Given the description of an element on the screen output the (x, y) to click on. 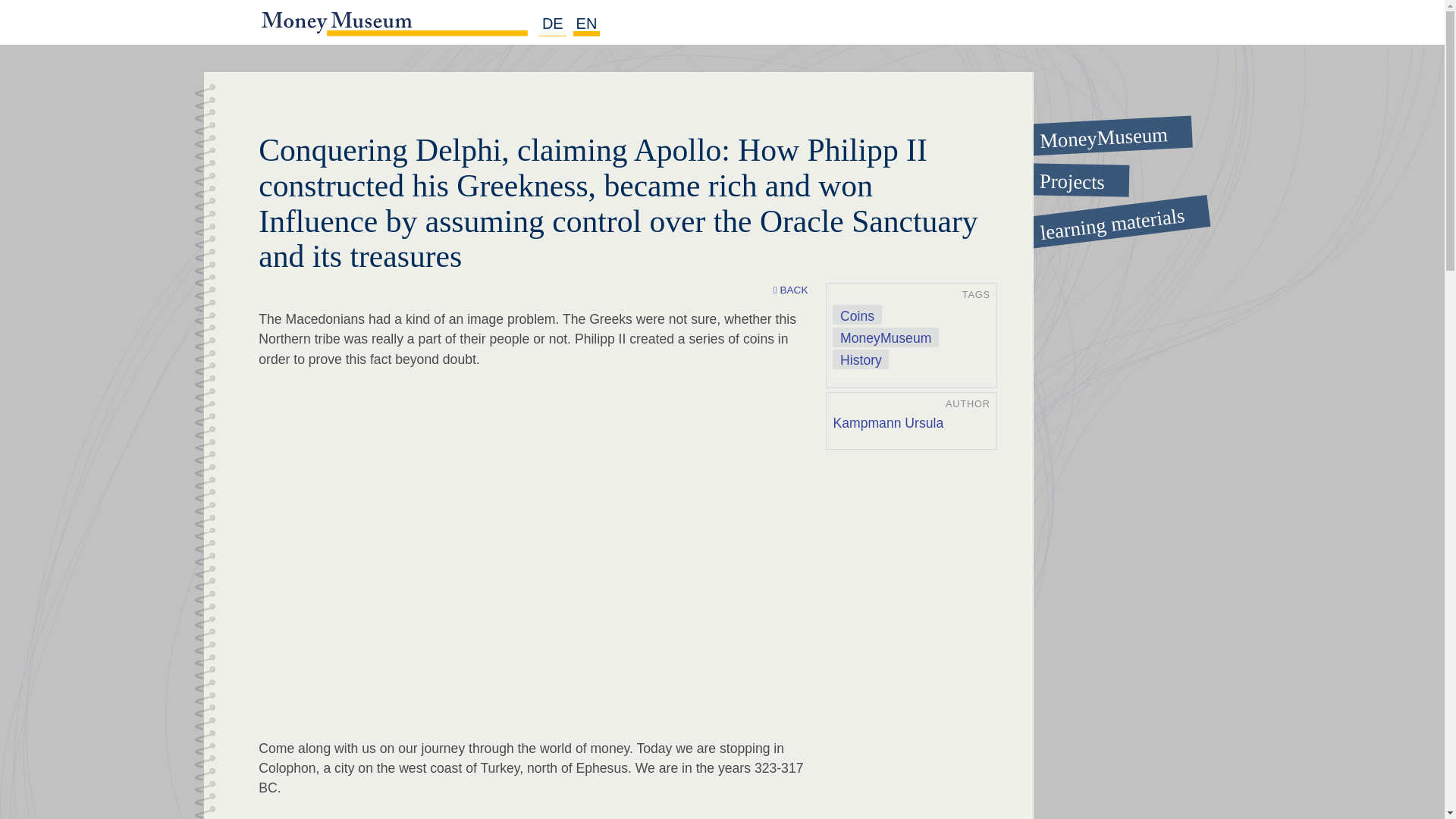
BACK (790, 290)
History (860, 359)
MoneyMuseum (1096, 130)
Projects (1097, 178)
Kampmann Ursula (887, 423)
MoneyMuseum (884, 337)
Coins (856, 314)
learning materials (1096, 211)
DE (552, 24)
EN (586, 24)
